Given the description of an element on the screen output the (x, y) to click on. 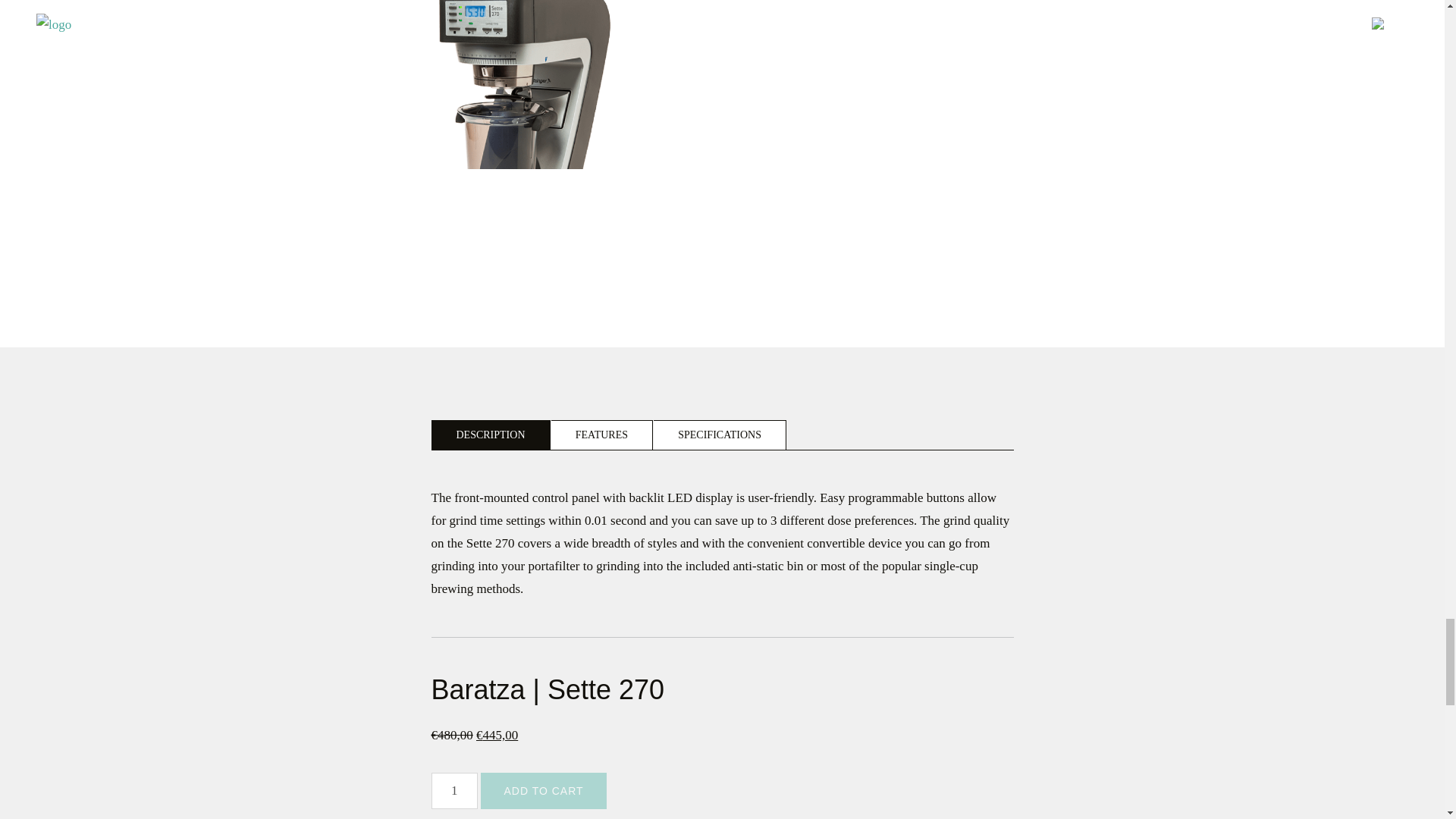
1 (453, 791)
ADD TO CART (542, 791)
s270-2 (511, 137)
